Given the description of an element on the screen output the (x, y) to click on. 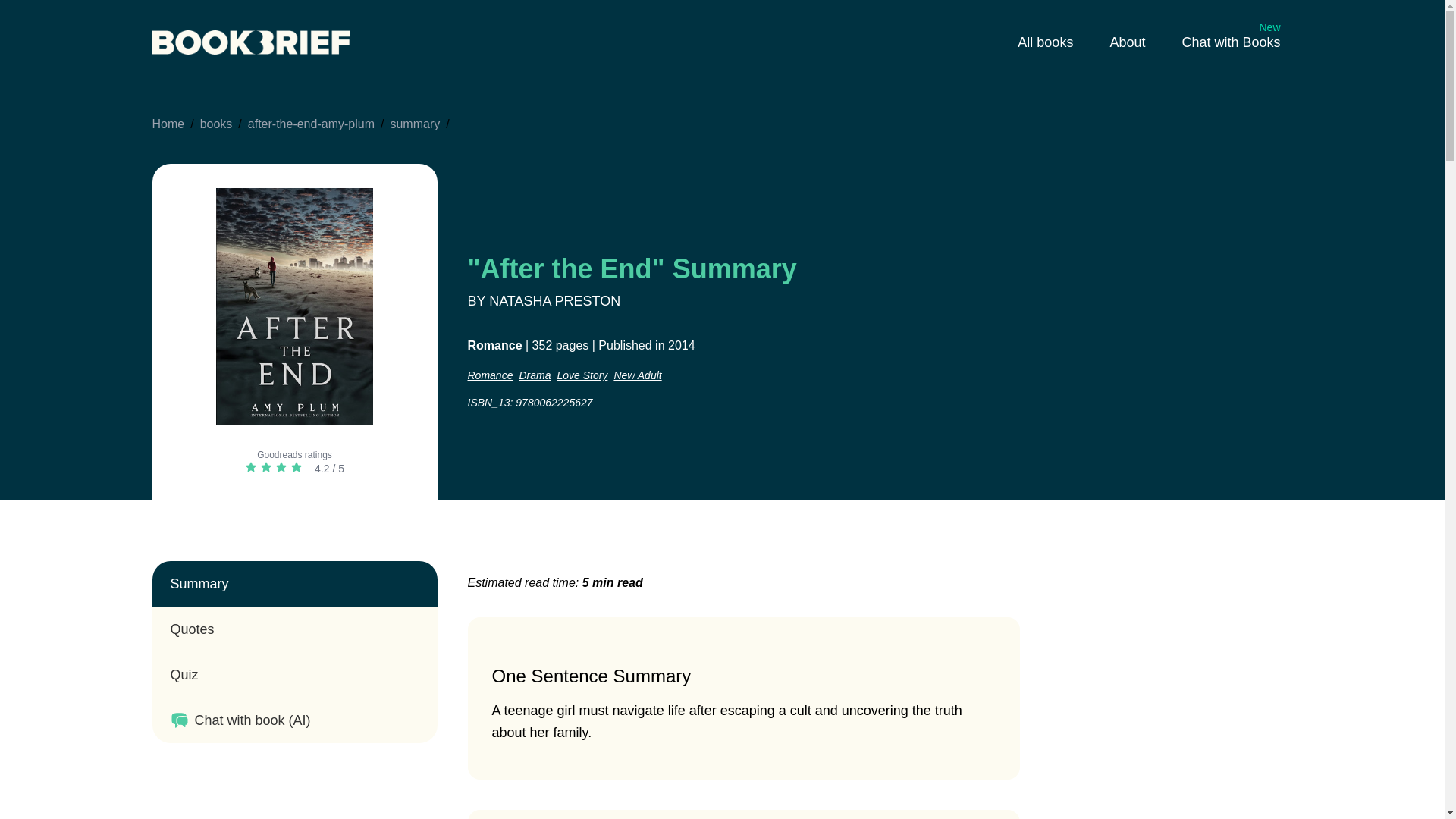
summary (414, 124)
books (216, 124)
Drama (1230, 42)
Quiz (534, 375)
NATASHA PRESTON (293, 674)
Quotes (554, 300)
after-the-end-amy-plum (293, 628)
All books (310, 124)
About (1045, 42)
